Given the description of an element on the screen output the (x, y) to click on. 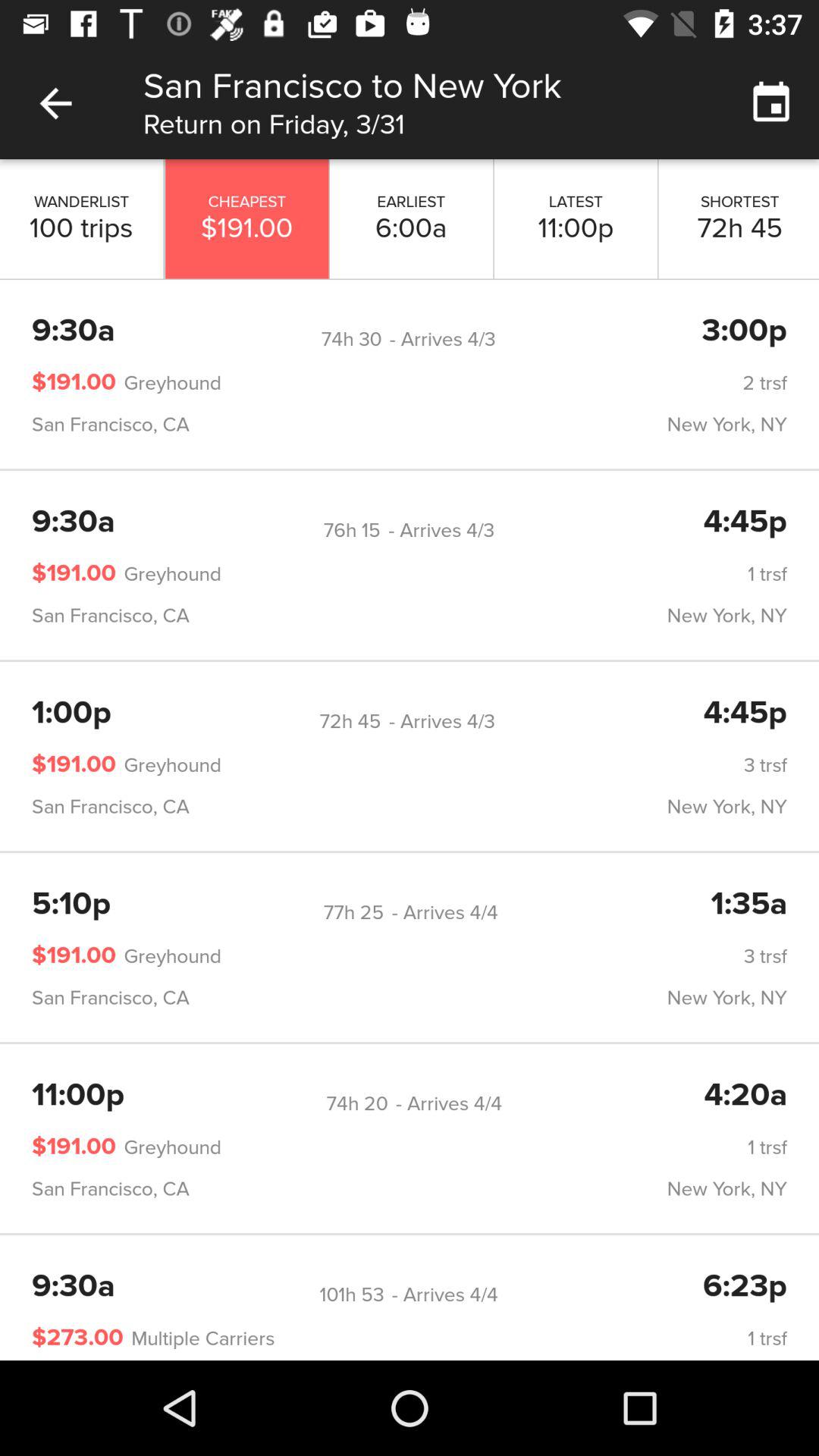
tap icon next to the - arrives 4/4 item (351, 1294)
